Given the description of an element on the screen output the (x, y) to click on. 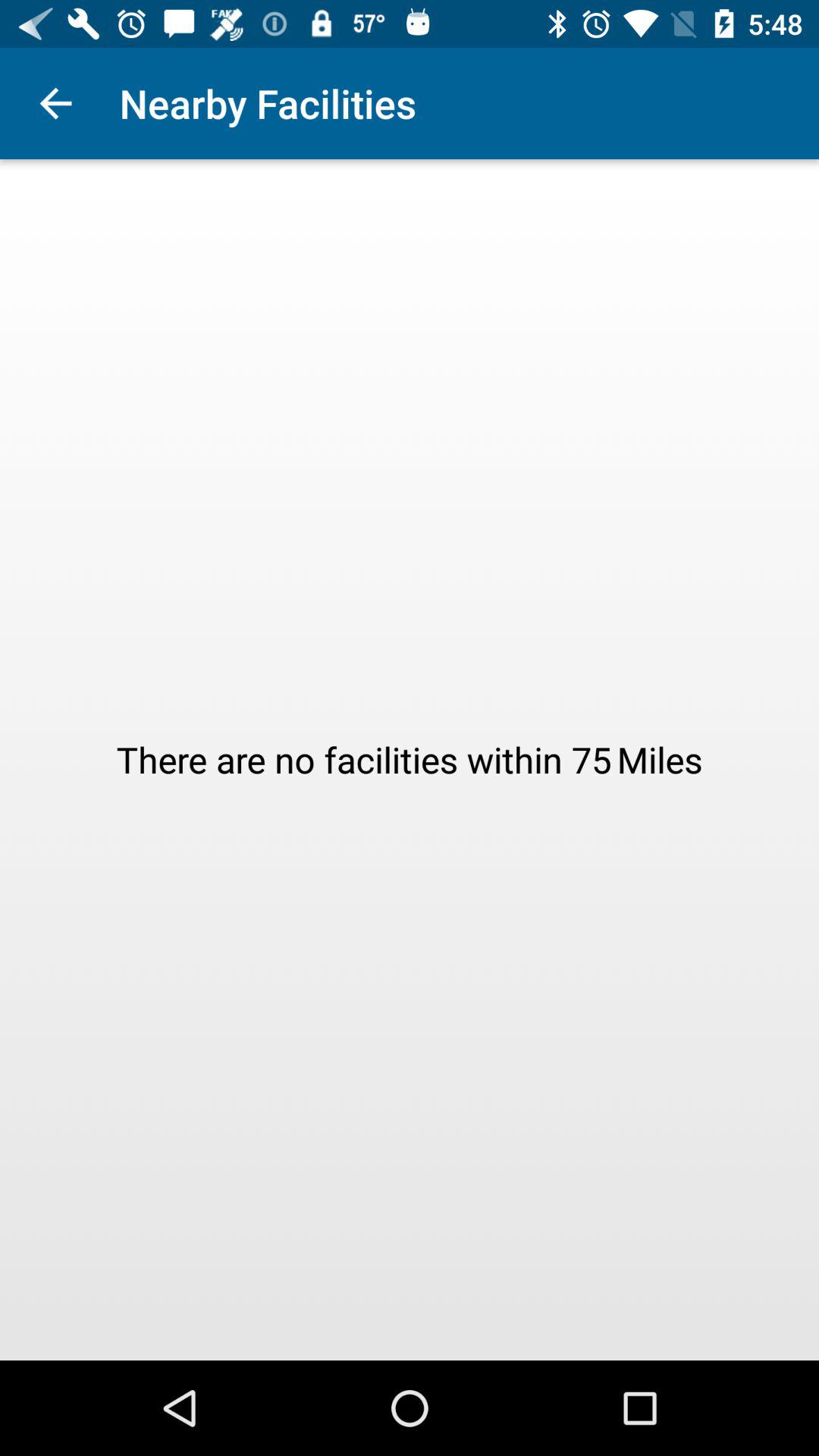
select the icon next to nearby facilities icon (55, 103)
